Given the description of an element on the screen output the (x, y) to click on. 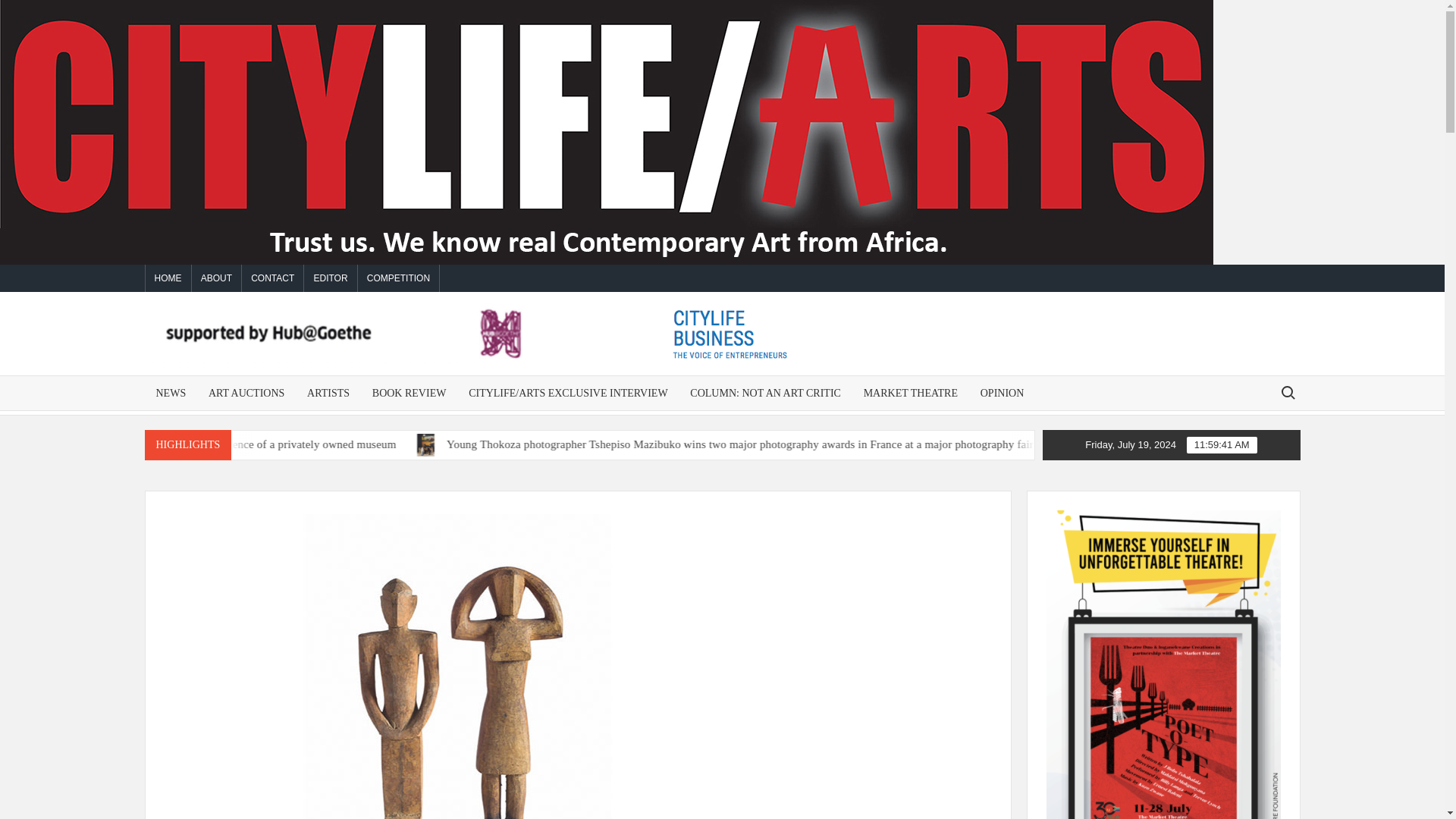
NEWS (170, 392)
Search for: (1287, 392)
BOOK REVIEW (409, 392)
CITYLIFE ARTS (933, 371)
EDITOR (330, 277)
ABOUT (216, 277)
MARKET THEATRE (910, 392)
ARTISTS (328, 392)
ART AUCTIONS (245, 392)
OPINION (1002, 392)
